Given the description of an element on the screen output the (x, y) to click on. 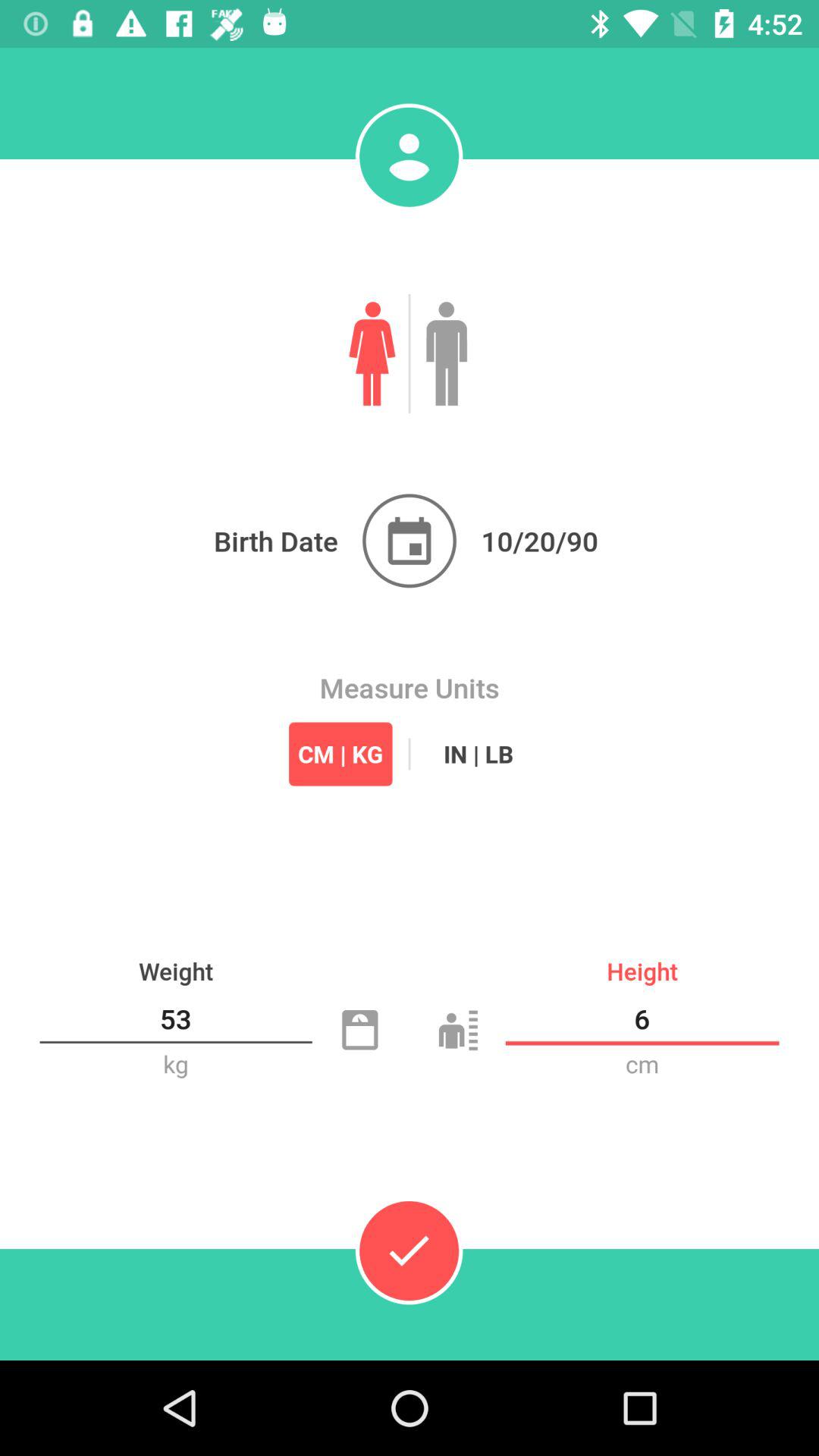
profile (408, 157)
